Given the description of an element on the screen output the (x, y) to click on. 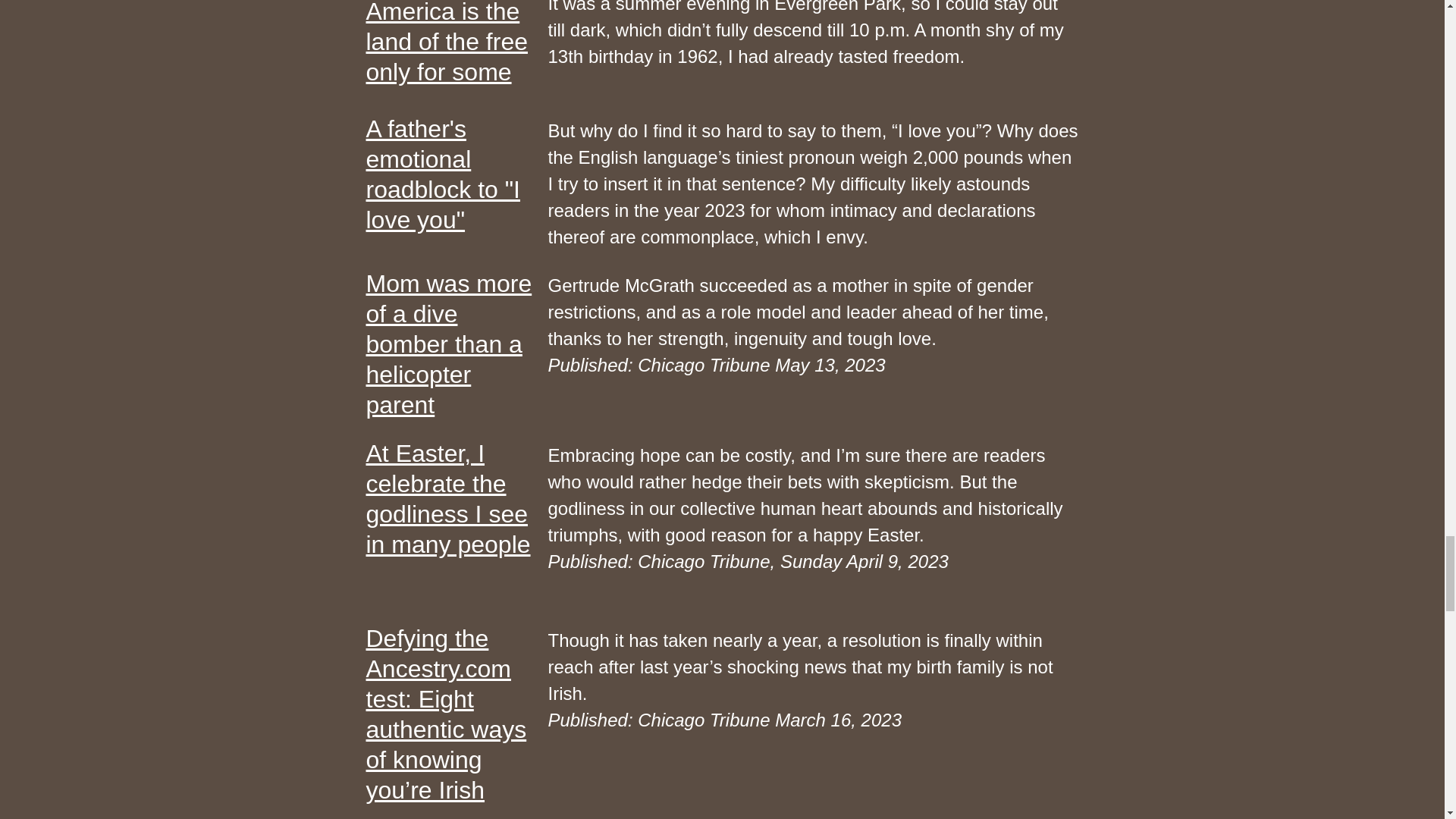
At Easter, I celebrate the godliness I see in many people (447, 498)
A father's emotional roadblock to "I love you" (446, 42)
Mom was more of a dive bomber than a helicopter parent (442, 174)
